Given the description of an element on the screen output the (x, y) to click on. 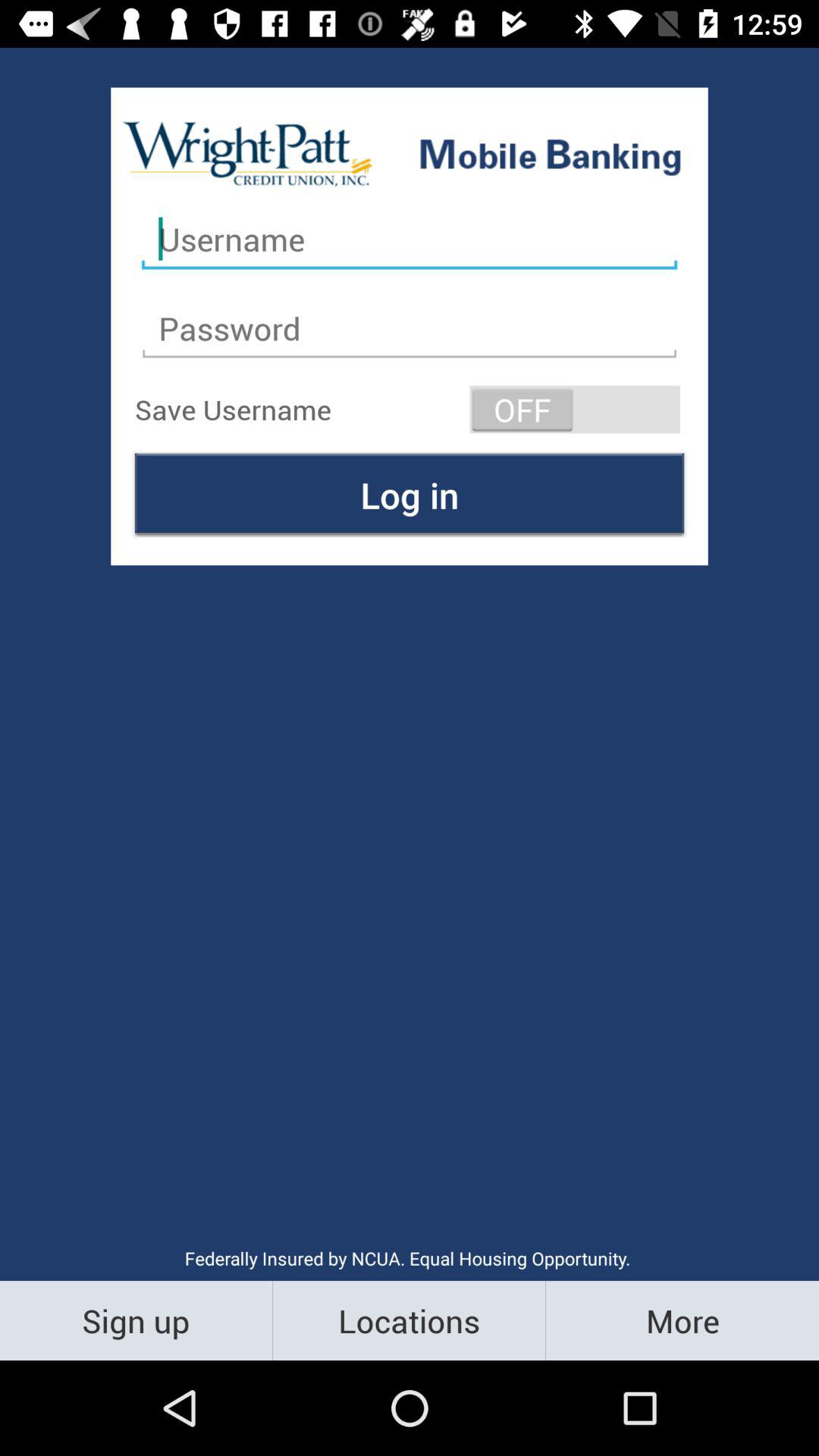
choose item below federally insured by icon (136, 1320)
